Given the description of an element on the screen output the (x, y) to click on. 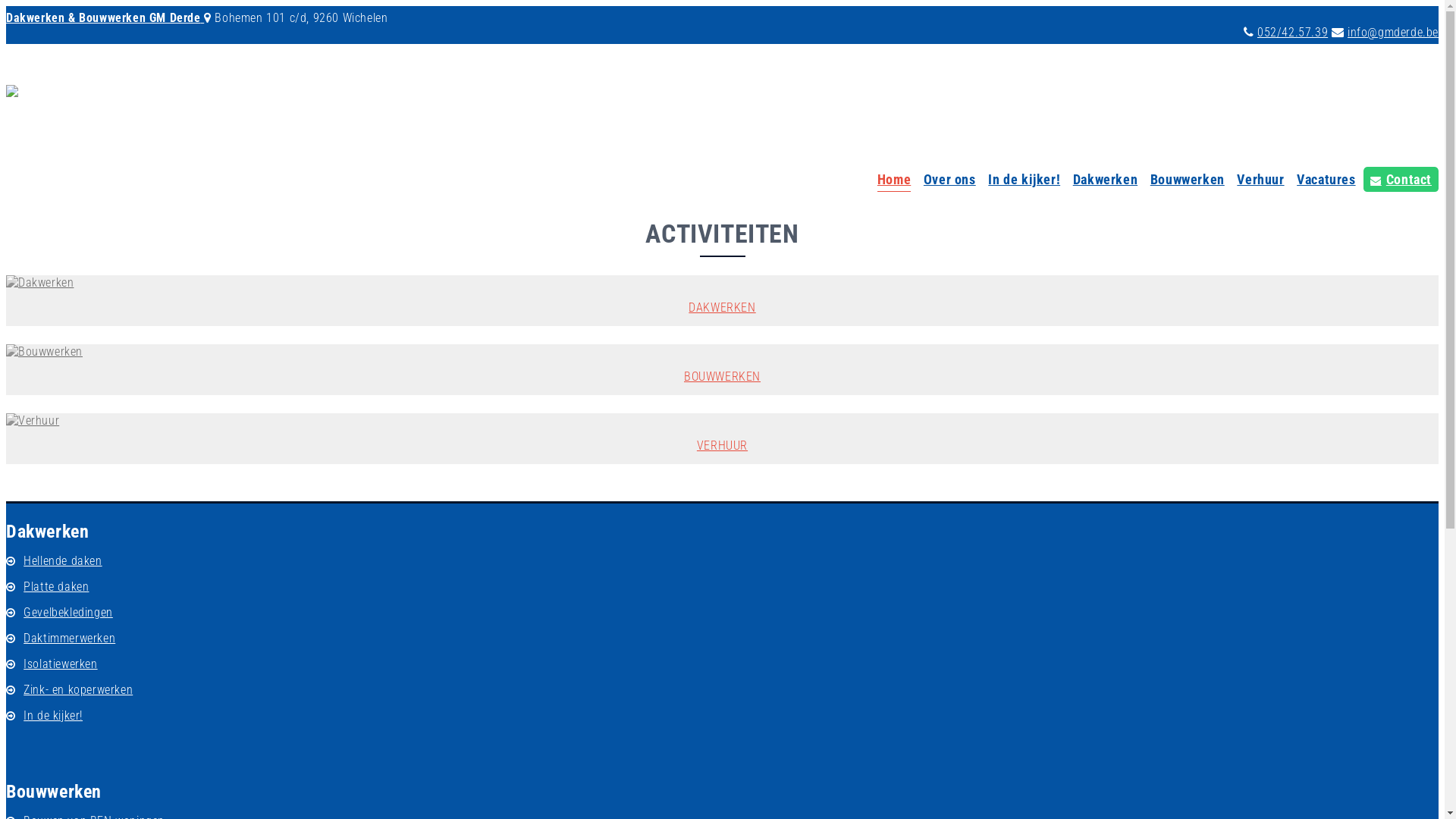
Isolatiewerken Element type: text (59, 663)
052/42.57.39 Element type: text (1292, 32)
Home Element type: text (893, 181)
Bouwwerken Element type: text (1187, 181)
In de kijker! Element type: text (52, 715)
Gevelbekledingen Element type: text (67, 612)
Vacatures Element type: text (1325, 181)
Daktimmerwerken Element type: text (68, 637)
VERHUUR Element type: text (722, 438)
Platte daken Element type: text (55, 586)
BOUWWERKEN Element type: text (722, 369)
GM Derde Element type: hover (12, 87)
Over ons Element type: text (949, 181)
Verhuur Element type: text (1259, 181)
In de kijker! Element type: text (1024, 181)
Dakwerken Element type: text (1105, 181)
Zink- en koperwerken Element type: text (77, 689)
Dakwerken & Bouwwerken GM Derde Element type: text (104, 17)
info@gmderde.be Element type: text (1392, 32)
Contact Element type: text (1400, 179)
DAKWERKEN Element type: text (722, 300)
Hellende daken Element type: text (62, 560)
